Given the description of an element on the screen output the (x, y) to click on. 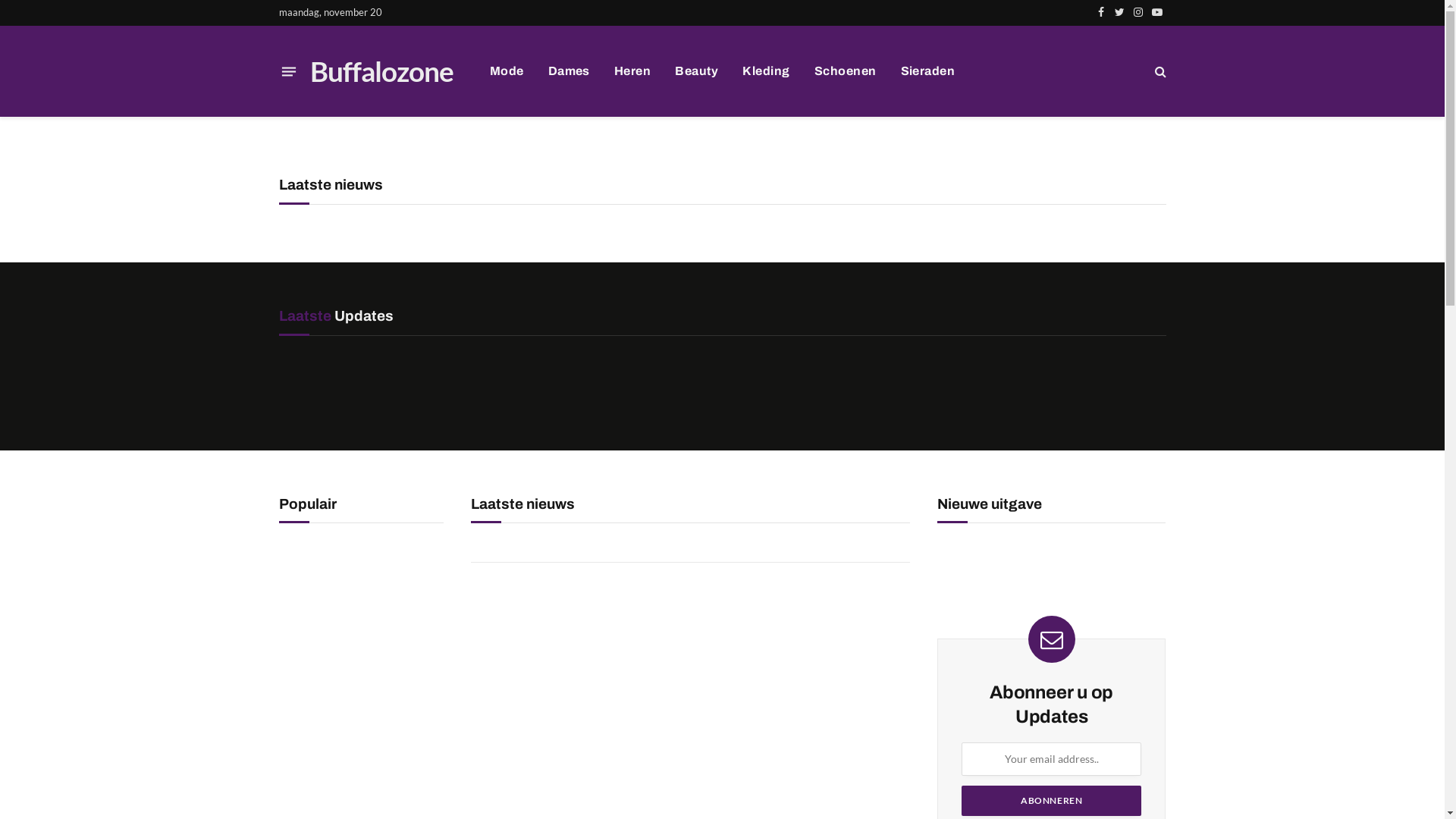
Twitter Element type: text (1119, 12)
Search Element type: hover (1158, 71)
Facebook Element type: text (1100, 12)
Mode Element type: text (506, 70)
Heren Element type: text (632, 70)
Schoenen Element type: text (845, 70)
Dames Element type: text (569, 70)
Sieraden Element type: text (927, 70)
Kleding Element type: text (765, 70)
Buffalozone Element type: text (380, 71)
Abonneren Element type: text (1051, 800)
Instagram Element type: text (1138, 12)
YouTube Element type: text (1157, 12)
Beauty Element type: text (696, 70)
